Given the description of an element on the screen output the (x, y) to click on. 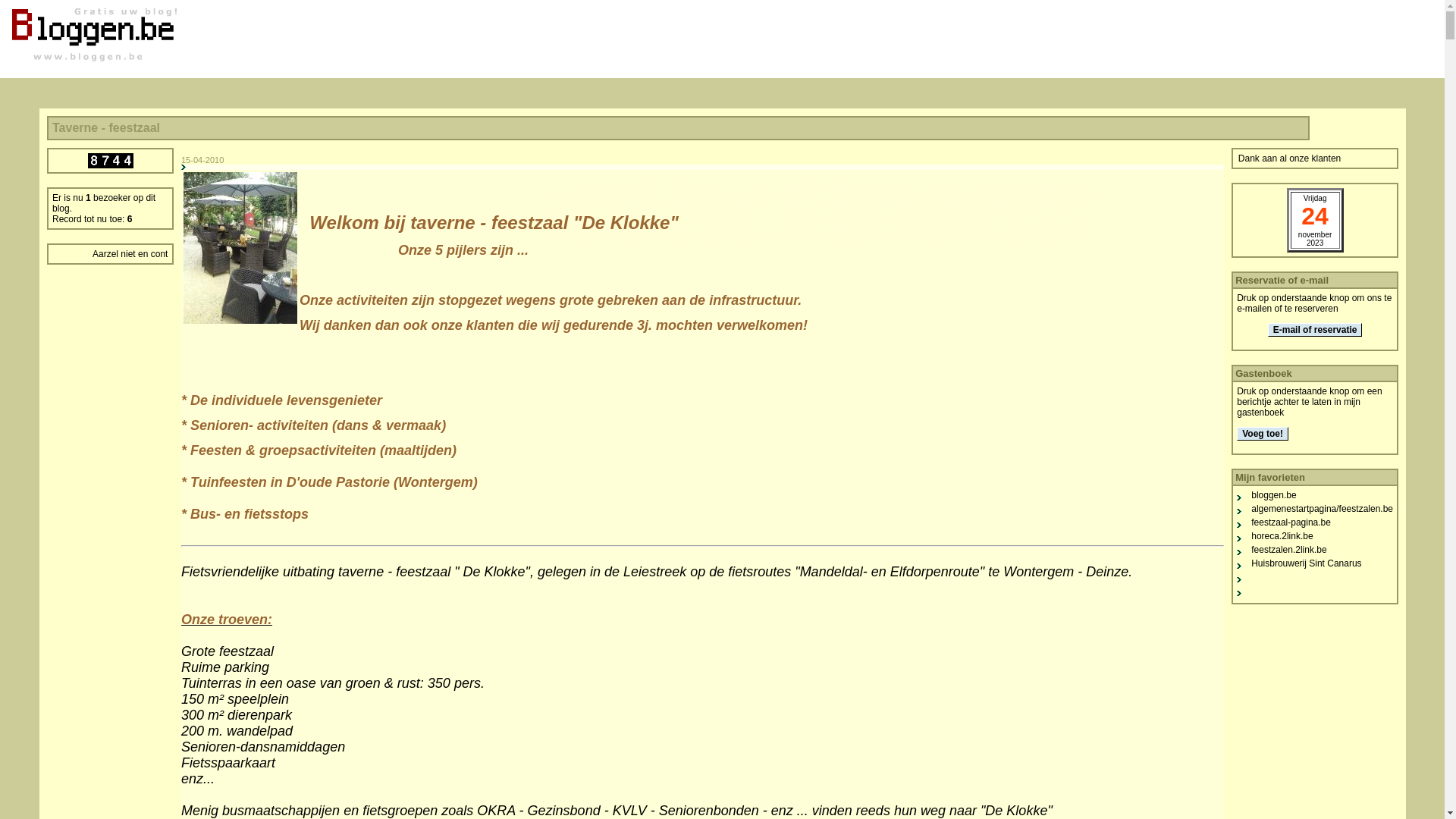
E-mail of reservatie Element type: text (1314, 329)
horeca.2link.be Element type: text (1281, 535)
feestzalen.2link.be Element type: text (1288, 549)
bloggen.be Element type: text (1273, 494)
3rd party ad content Element type: hover (825, 124)
feestzaal-pagina.be Element type: text (1290, 522)
Voeg toe! Element type: text (1262, 433)
Huisbrouwerij Sint Canarus Element type: text (1306, 563)
algemenestartpagina/feestzalen.be Element type: text (1322, 508)
